Given the description of an element on the screen output the (x, y) to click on. 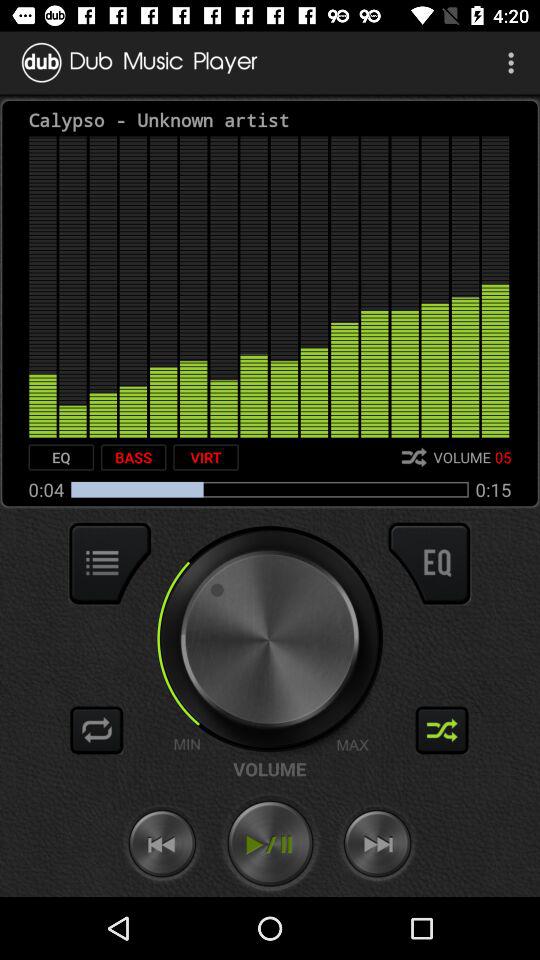
switch to play (269, 844)
